Given the description of an element on the screen output the (x, y) to click on. 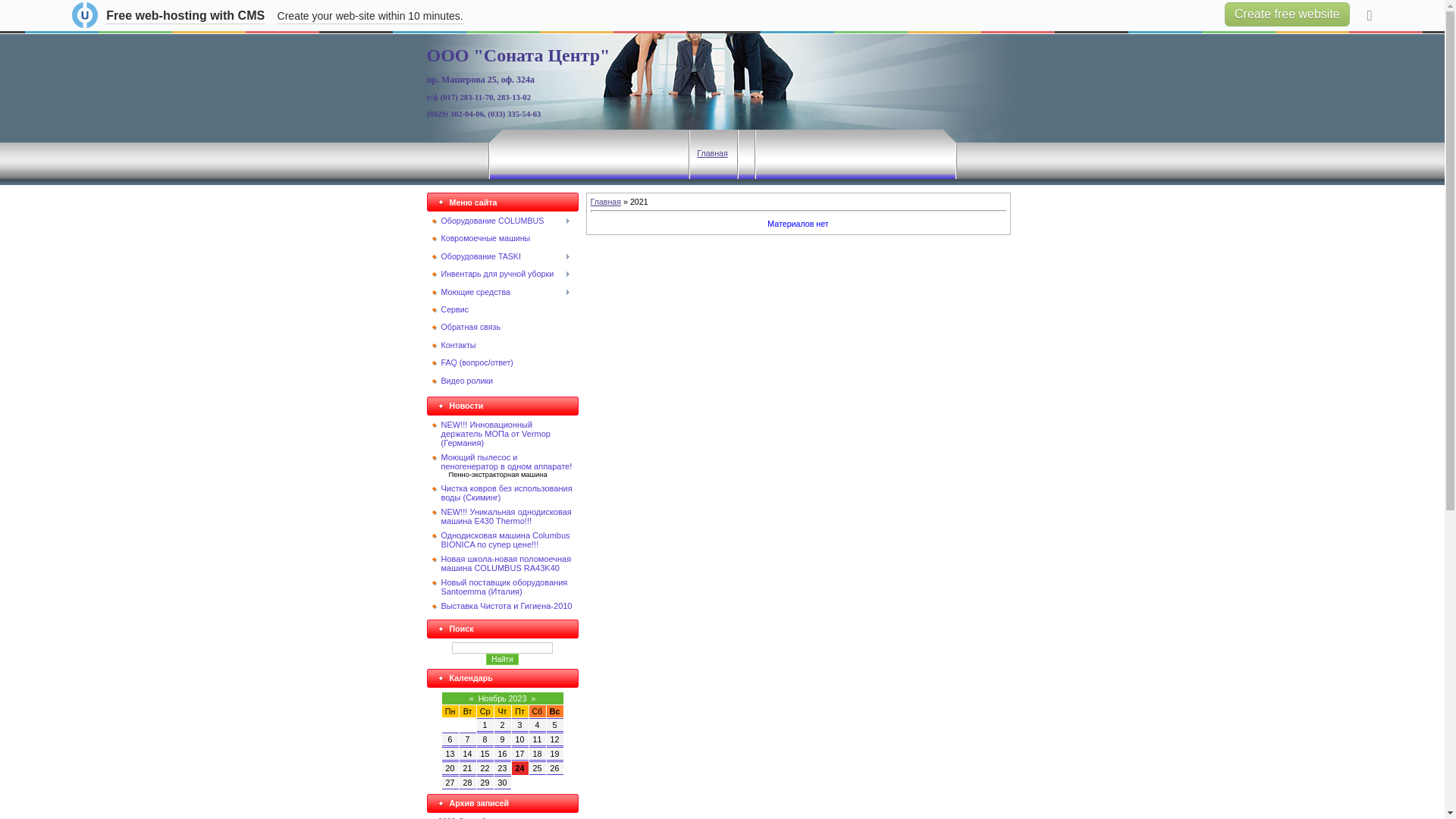
RSS Element type: text (438, 16)
